Given the description of an element on the screen output the (x, y) to click on. 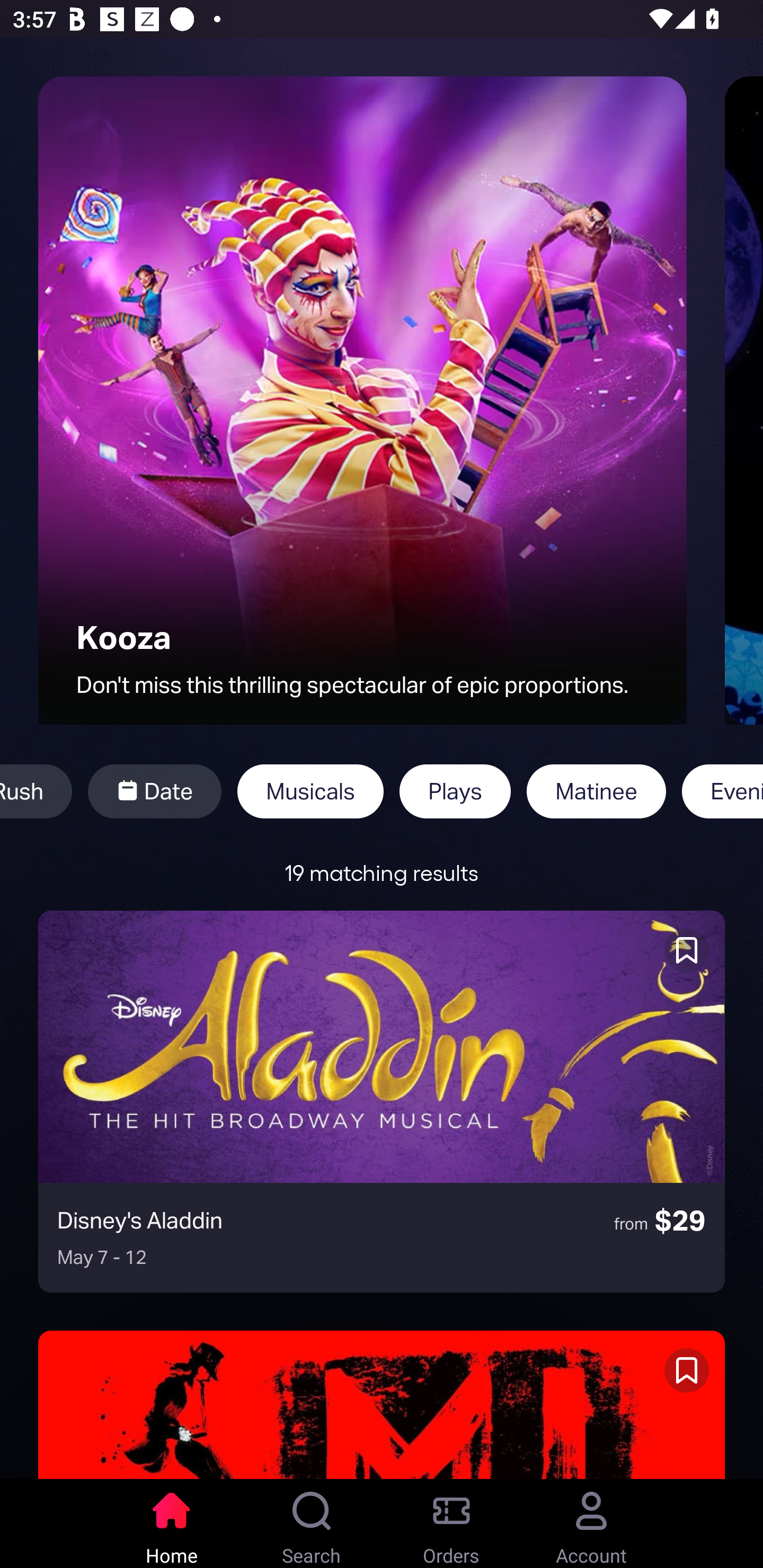
Date (154, 791)
Musicals (310, 791)
Plays (454, 791)
Matinee (596, 791)
Disney's Aladdin from $29 May 7 - 12 (381, 1101)
Search (311, 1523)
Orders (451, 1523)
Account (591, 1523)
